Given the description of an element on the screen output the (x, y) to click on. 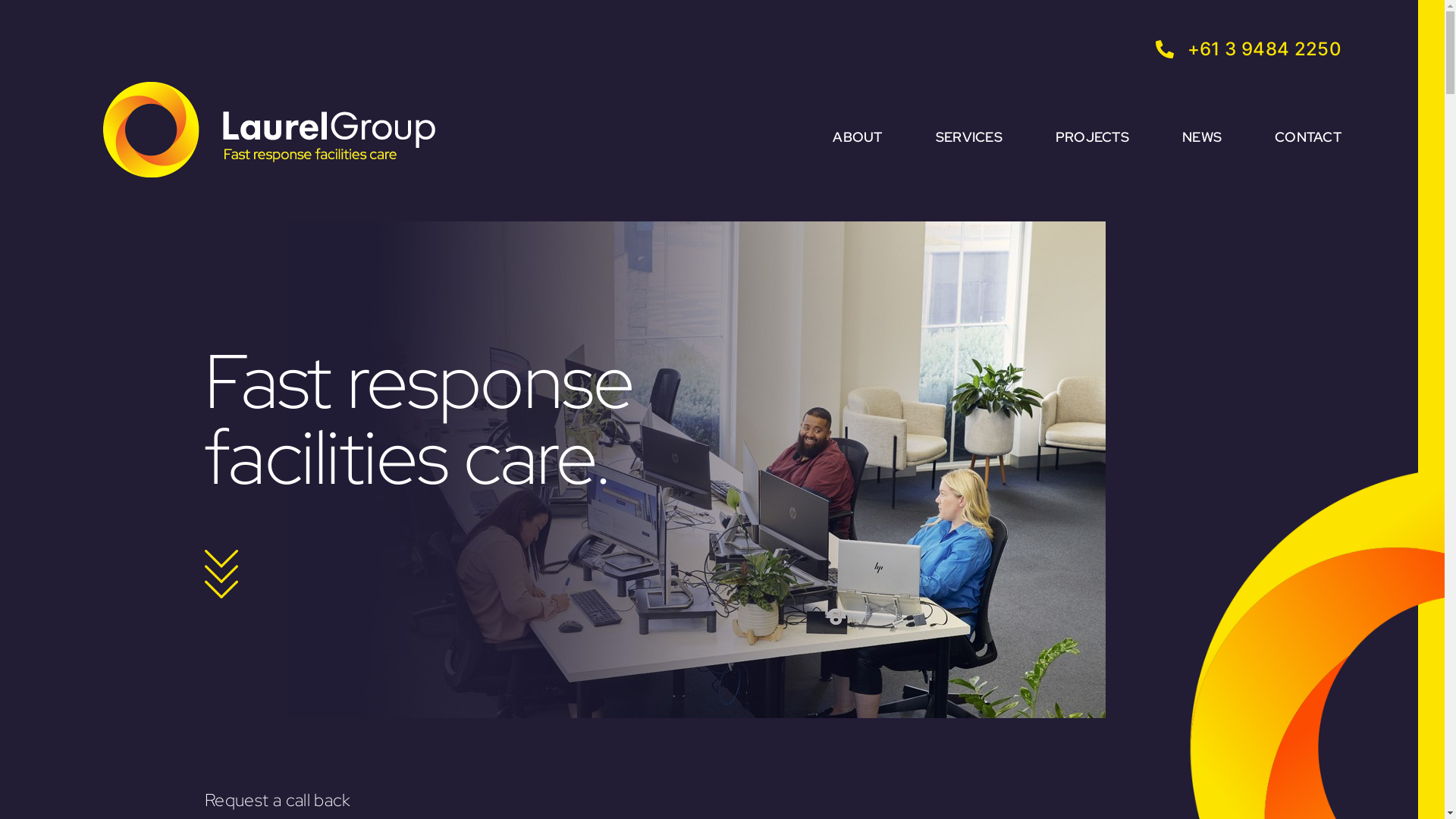
PROJECTS Element type: text (1092, 108)
banner-arrow Element type: hover (220, 573)
+61 3 9484 2250 Element type: text (1237, 49)
NEWS Element type: text (1201, 108)
ABOUT Element type: text (856, 108)
Laurel Group Home Page Hero Image Element type: hover (695, 469)
Laurel-Group-Logo-438x126px Element type: hover (269, 129)
SERVICES Element type: text (968, 108)
CONTACT Element type: text (1307, 108)
